Given the description of an element on the screen output the (x, y) to click on. 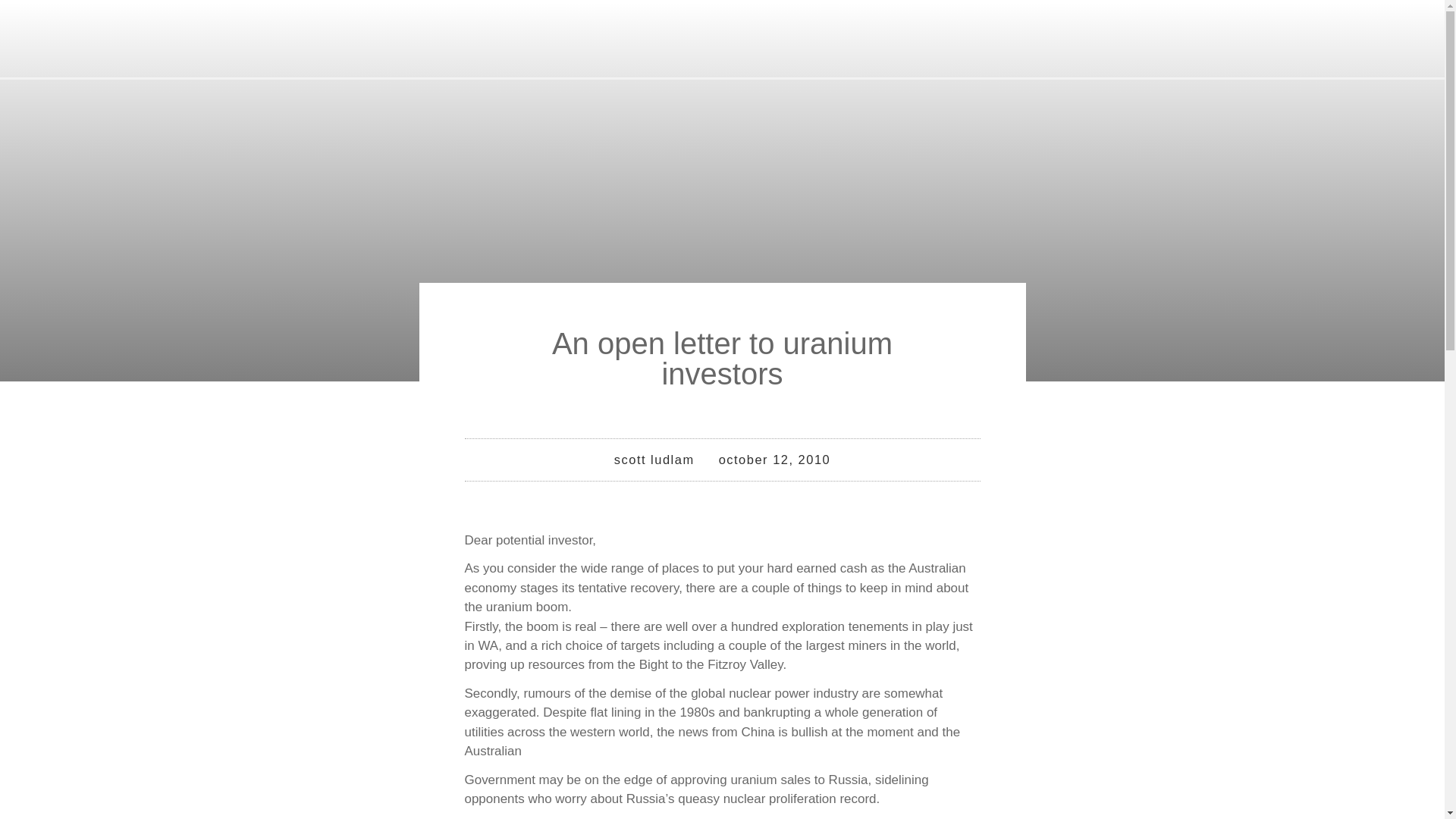
scott ludlam (654, 459)
october 12, 2010 (775, 459)
